Given the description of an element on the screen output the (x, y) to click on. 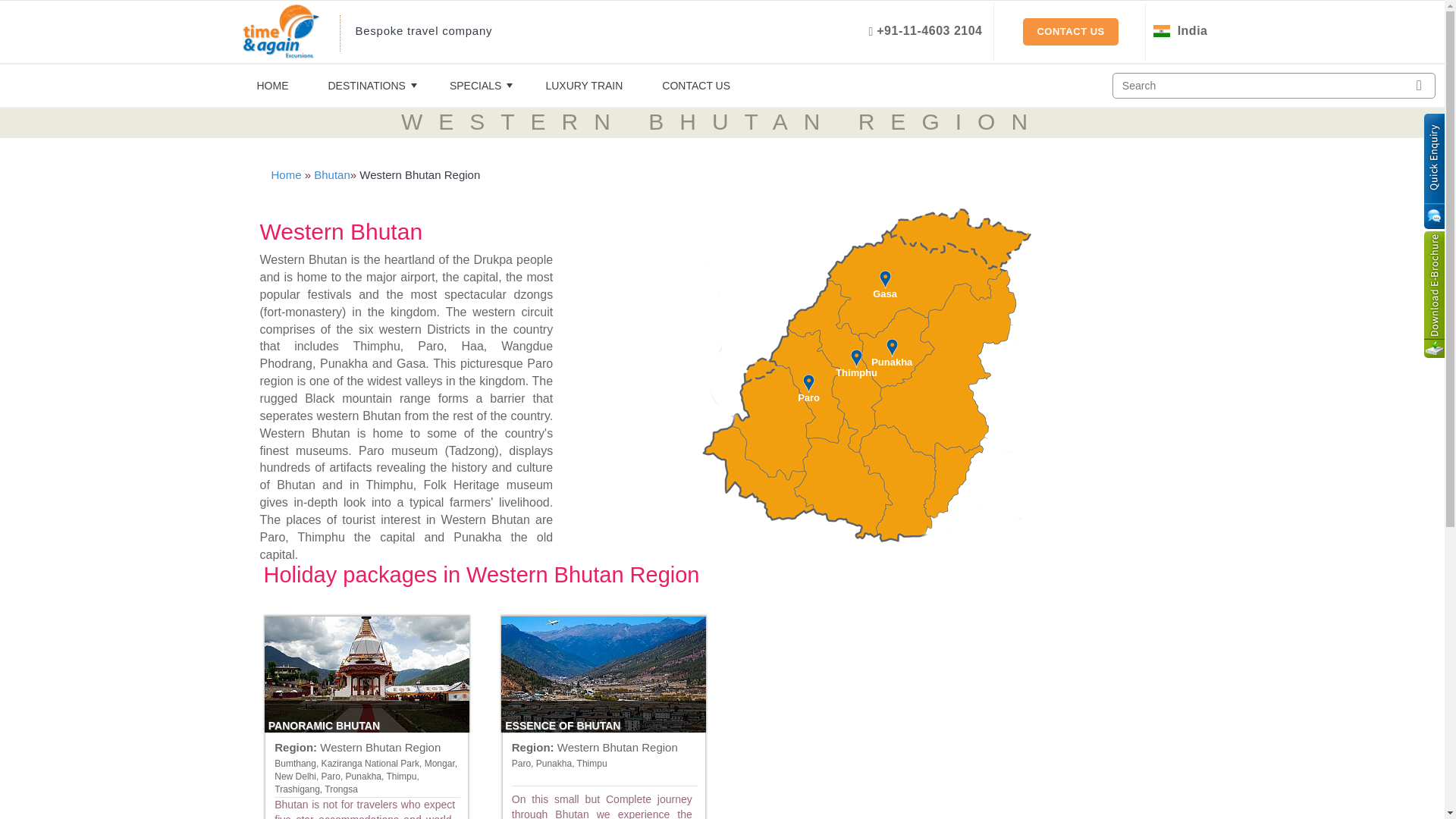
Western Bhutan Region (380, 747)
LUXURY TRAIN (583, 85)
HOME (271, 85)
Home (285, 174)
CONTACT US (1070, 31)
PANORAMIC BHUTAN (366, 674)
Thimphu (856, 365)
Punakha (891, 355)
Bhutan (332, 174)
CONTACT US (695, 85)
